Given the description of an element on the screen output the (x, y) to click on. 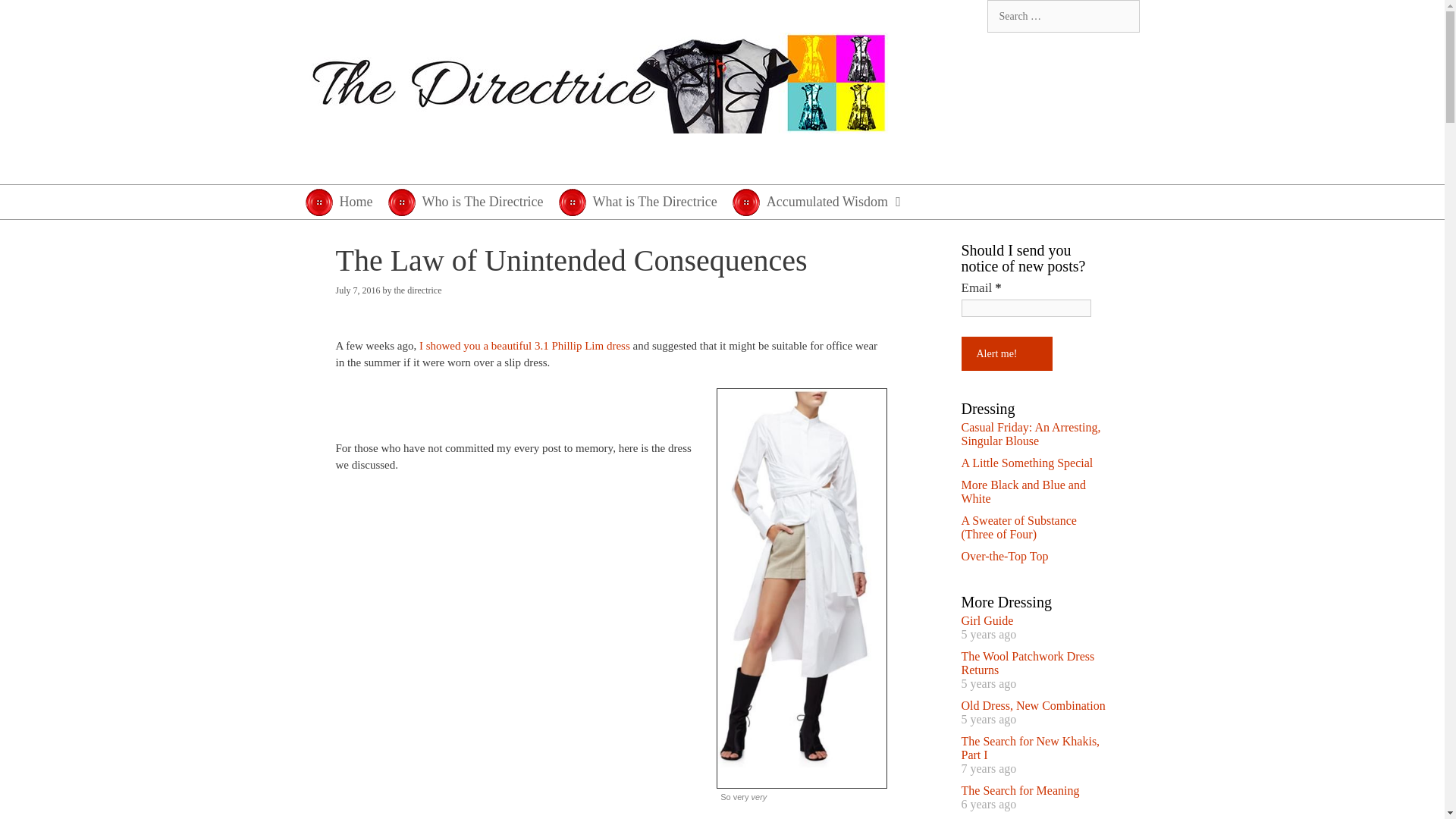
Alert me! (1006, 353)
Accumulated Wisdom (826, 202)
What is The Directrice (645, 202)
Who is The Directrice (473, 202)
The Directrice (597, 82)
The Directrice (597, 81)
Home (345, 202)
Search (30, 16)
I showed you a beautiful 3.1 Phillip Lim dress (524, 345)
the directrice (418, 290)
View all posts by the directrice (418, 290)
Email (1025, 307)
Search for: (1063, 16)
